Given the description of an element on the screen output the (x, y) to click on. 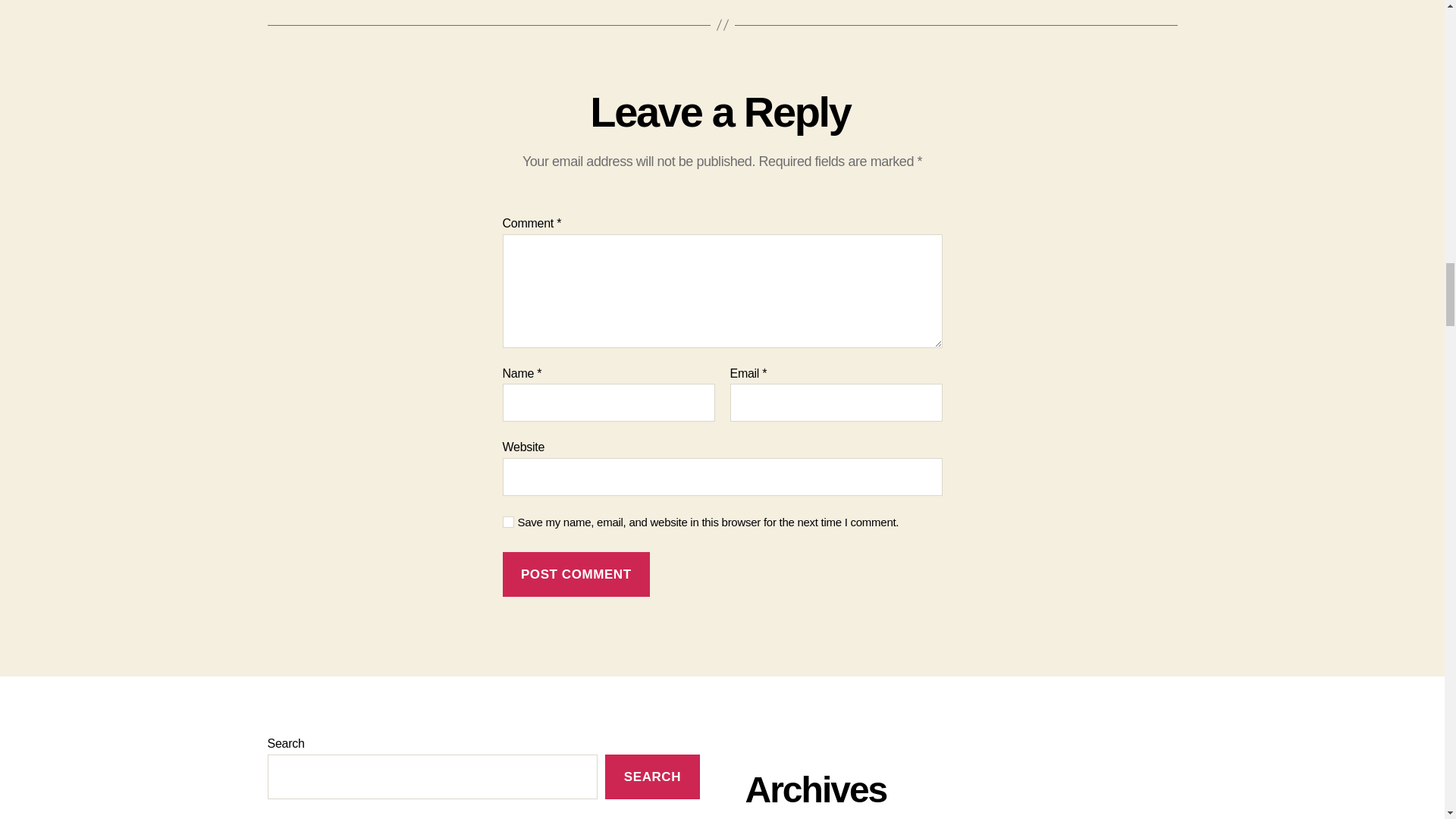
SEARCH (651, 776)
yes (507, 521)
Post Comment (575, 574)
Post Comment (575, 574)
